Given the description of an element on the screen output the (x, y) to click on. 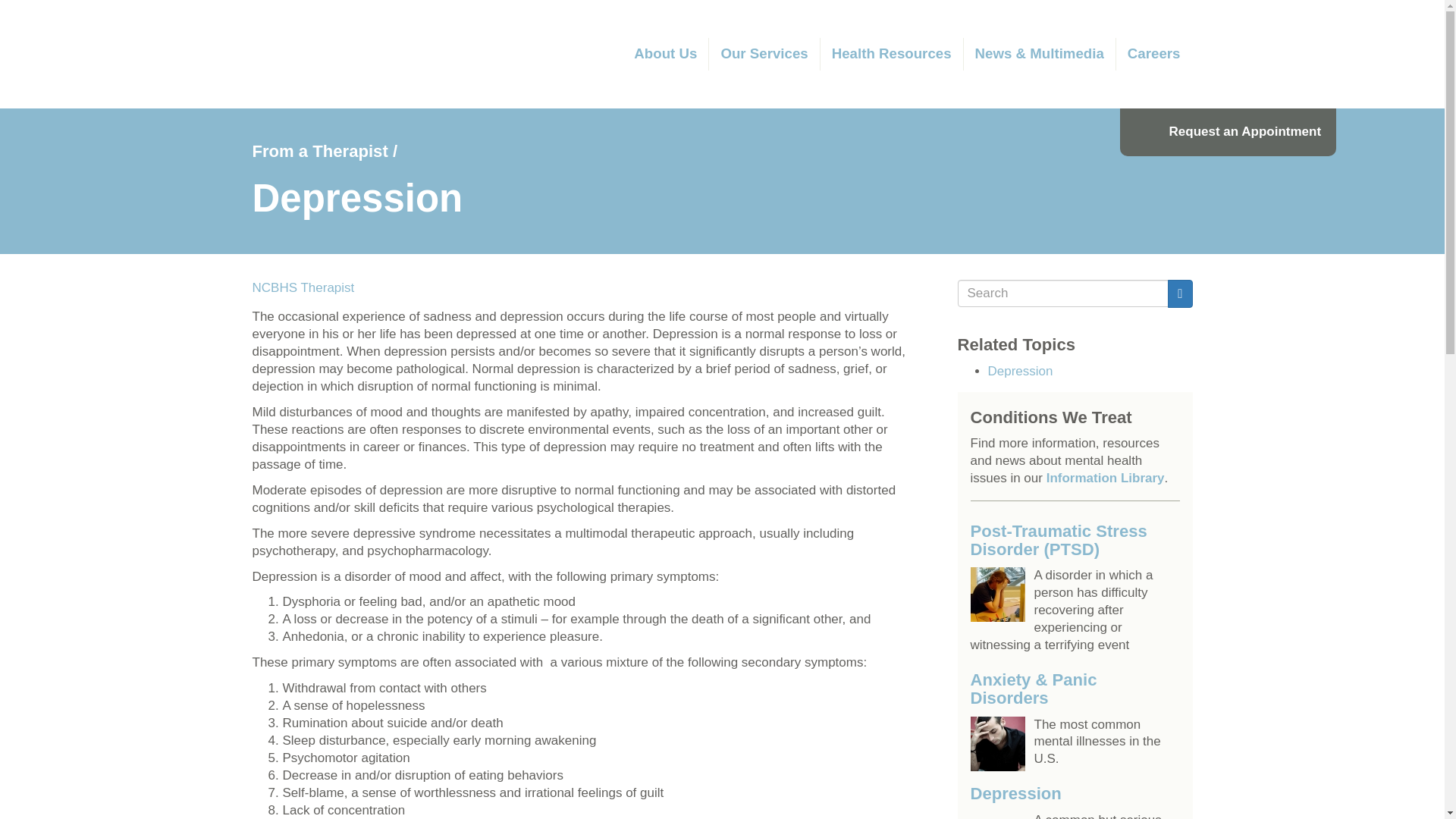
About Us (666, 53)
Our Services (764, 53)
Home (409, 53)
North Central Behavioral Health Systems (409, 53)
Enter the terms you wish to search for. (1062, 293)
Careers at North Central Behavioral Health Systems (1154, 53)
Health Resources (892, 53)
